Given the description of an element on the screen output the (x, y) to click on. 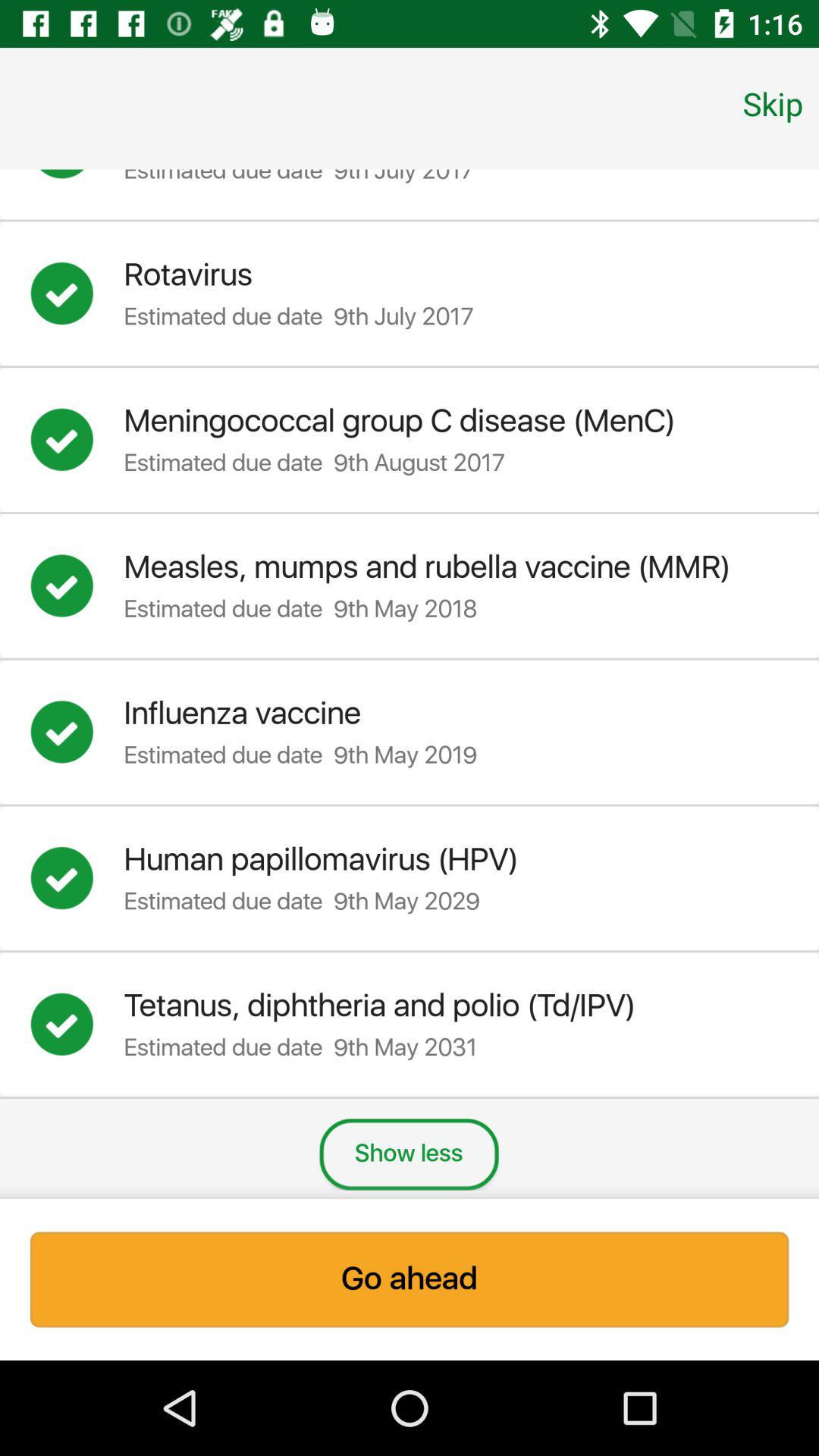
choose icon below the show less item (409, 1279)
